Given the description of an element on the screen output the (x, y) to click on. 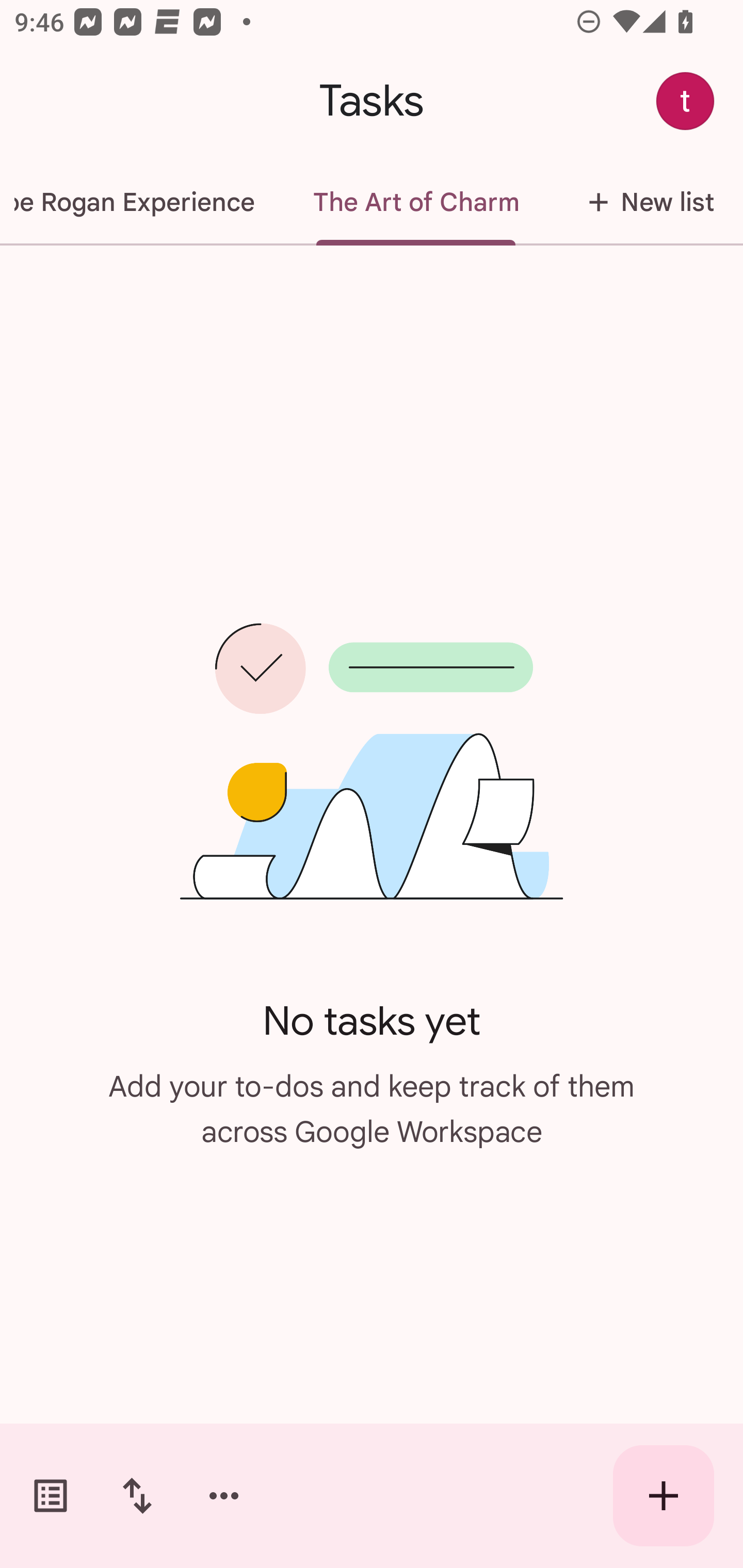
The Joe Rogan Experience (141, 202)
New list (645, 202)
Switch task lists (50, 1495)
Create new task (663, 1495)
Change sort order (136, 1495)
More options (223, 1495)
